Given the description of an element on the screen output the (x, y) to click on. 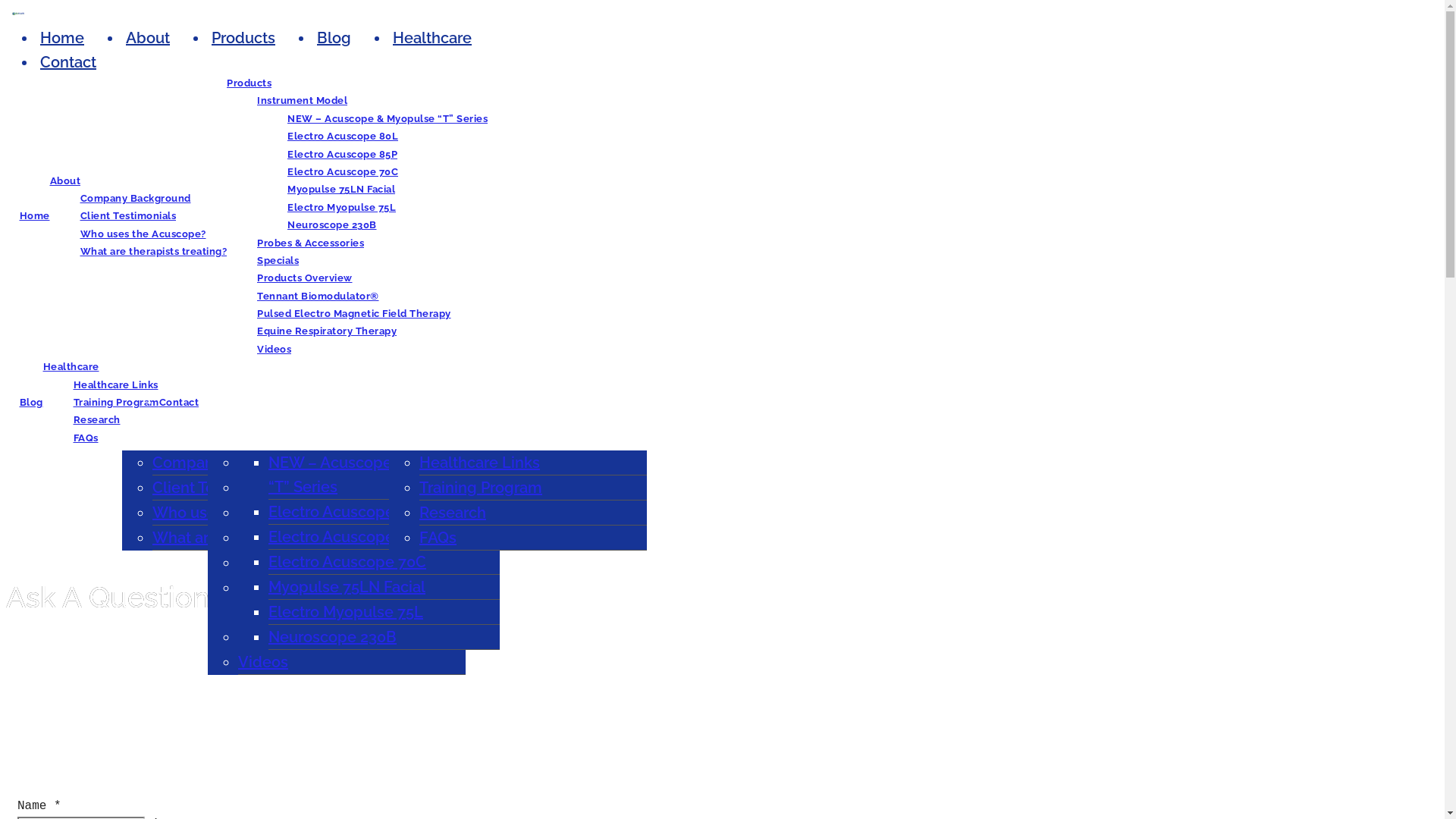
Instrument Model Element type: text (301, 462)
FAQs Element type: text (437, 537)
Products Element type: text (243, 37)
Home Element type: text (61, 37)
Healthcare Links Element type: text (479, 462)
What are therapists treating? Element type: text (153, 251)
Training Program Element type: text (480, 487)
Specials Element type: text (268, 512)
Equine Respiratory Therapy Element type: text (326, 330)
Electro Myopulse 75L Element type: text (345, 611)
Specials Element type: text (277, 260)
Pulsed Electro Magnetic Field Therapy Element type: text (345, 599)
Neuroscope 230B Element type: text (332, 636)
Blog Element type: text (31, 401)
Electro Acuscope 70C Element type: text (342, 171)
Products Overview Element type: text (305, 537)
FAQs Element type: text (84, 437)
Blog Element type: text (333, 37)
Instrument Model Element type: text (302, 100)
Home Element type: text (34, 215)
Probes & Accessories Element type: text (310, 242)
About Element type: text (65, 180)
Client Testimonials Element type: text (128, 215)
Healthcare Element type: text (70, 366)
Myopulse 75LN Facial Element type: text (341, 188)
Contact Element type: text (179, 401)
Products Element type: text (248, 82)
Healthcare Element type: text (432, 37)
Electro Myopulse 75L Element type: text (341, 207)
Who uses the Acuscope? Element type: text (242, 512)
Electro Acuscope 80L Element type: text (346, 511)
Neuroscope 230B Element type: text (331, 224)
Pulsed Electro Magnetic Field Therapy Element type: text (354, 313)
Electro Acuscope 85P Element type: text (346, 536)
Healthcare Links Element type: text (114, 384)
Electro Acuscope 85P Element type: text (342, 154)
Products Overview Element type: text (304, 277)
Equine Respiratory Therapy Element type: text (336, 636)
Client Testimonials Element type: text (220, 487)
Myopulse 75LN Facial Element type: text (346, 586)
Training Program Element type: text (115, 401)
Company Background Element type: text (135, 197)
Who uses the Acuscope? Element type: text (143, 233)
Electro Acuscope 70C Element type: text (347, 561)
Electro Acuscope 80L Element type: text (342, 135)
Videos Element type: text (274, 348)
Company Background Element type: text (232, 462)
What are therapists treating? Element type: text (256, 537)
Probes & Accessories Element type: text (315, 487)
Research Element type: text (452, 512)
About Element type: text (147, 37)
Videos Element type: text (263, 661)
Contact Element type: text (68, 62)
Research Element type: text (95, 419)
